Given the description of an element on the screen output the (x, y) to click on. 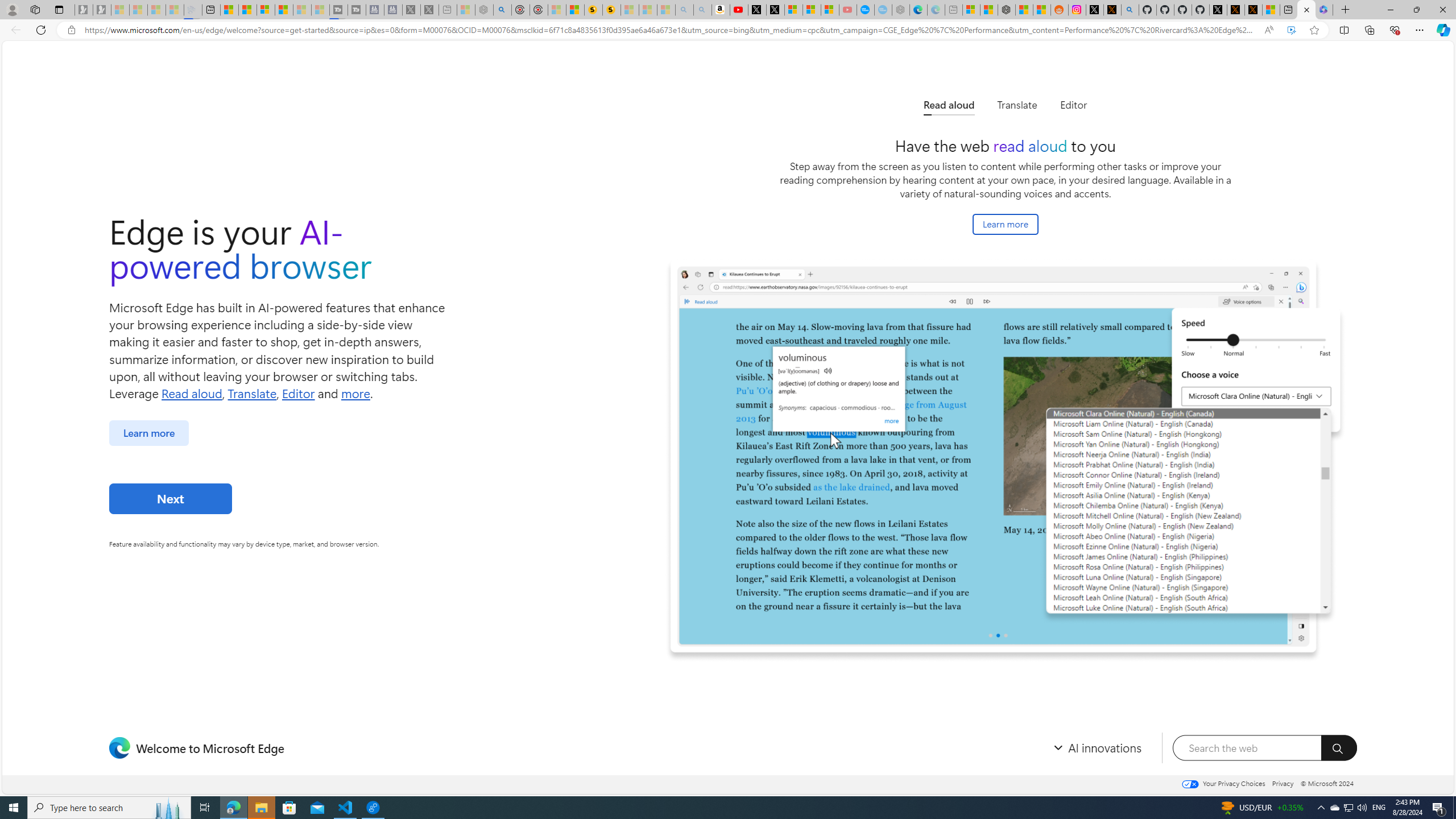
X (775, 9)
Streaming Coverage | T3 - Sleeping (338, 9)
Newsletter Sign Up - Sleeping (102, 9)
Gloom - YouTube - Sleeping (847, 9)
New tab - Sleeping (953, 9)
Nordace - Summer Adventures 2024 - Sleeping (483, 9)
